Given the description of an element on the screen output the (x, y) to click on. 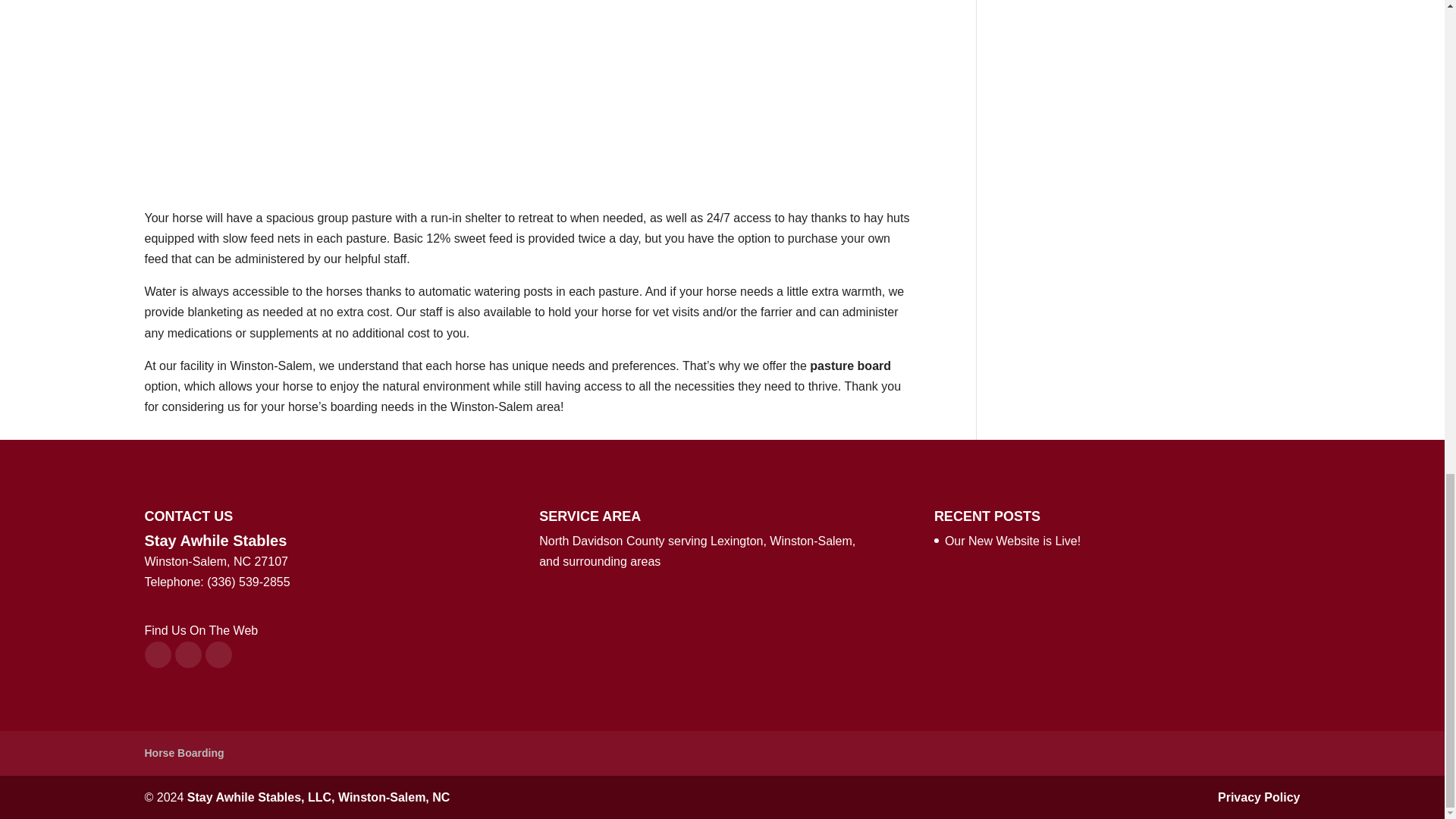
Privacy Policy (1258, 797)
Google My Business (218, 654)
Facebook (157, 654)
Find Us On The Web (200, 630)
Our New Website is Live! (1012, 540)
Stay Awhile Stables, LLC, Winston-Salem, NC (318, 797)
Horse Boarding (184, 752)
Instagram (187, 654)
